Given the description of an element on the screen output the (x, y) to click on. 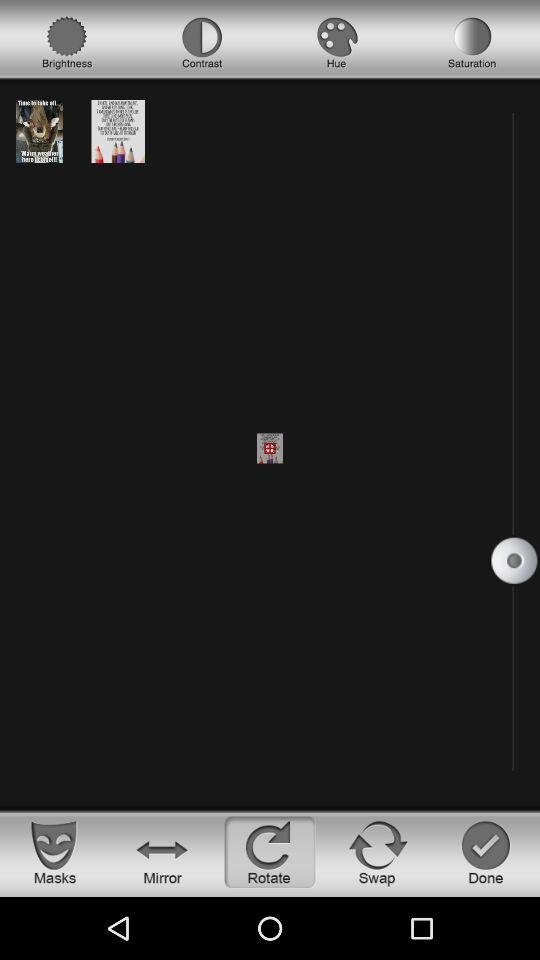
rotate (269, 852)
